Given the description of an element on the screen output the (x, y) to click on. 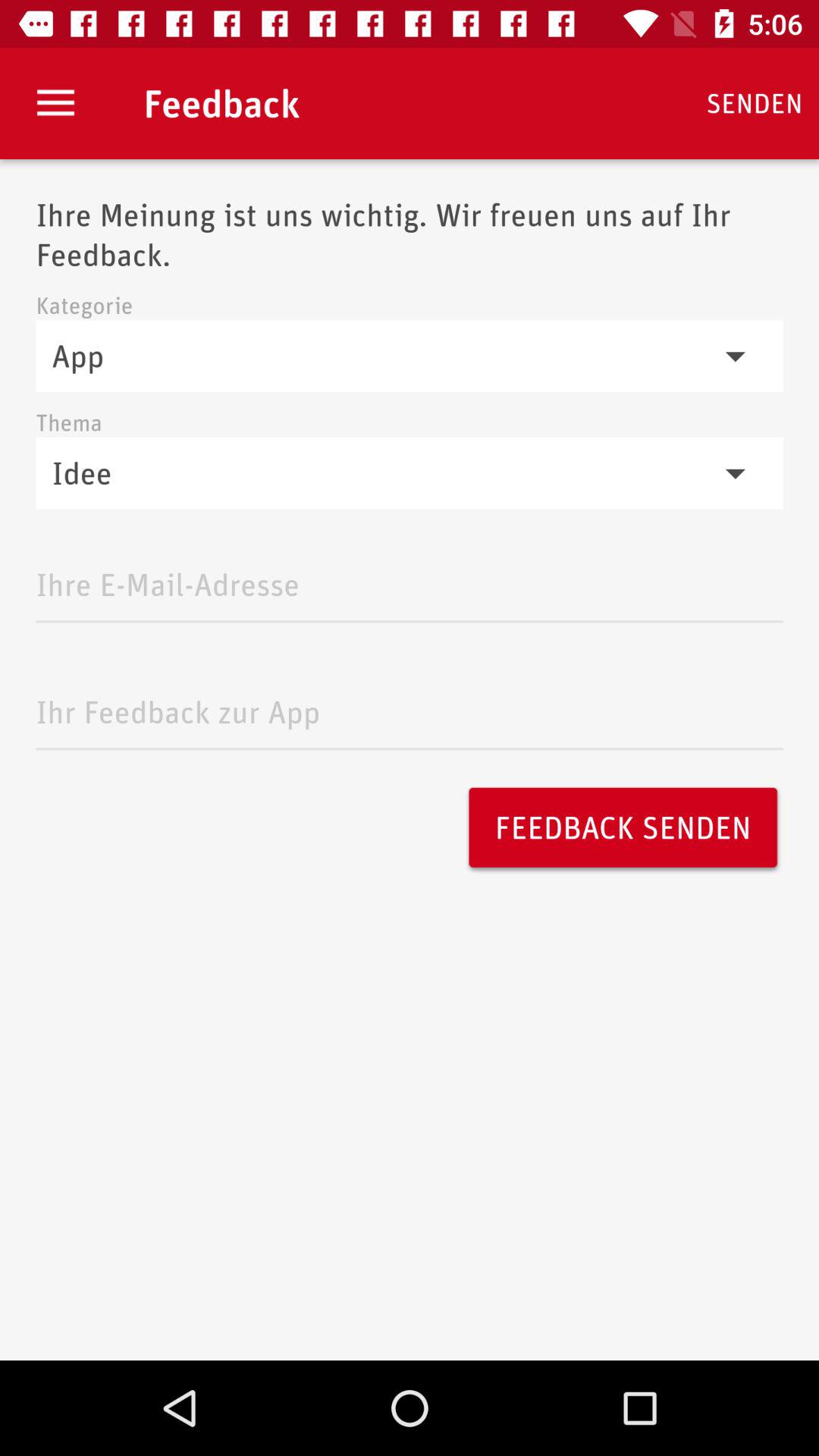
enter e-mail address (409, 580)
